Given the description of an element on the screen output the (x, y) to click on. 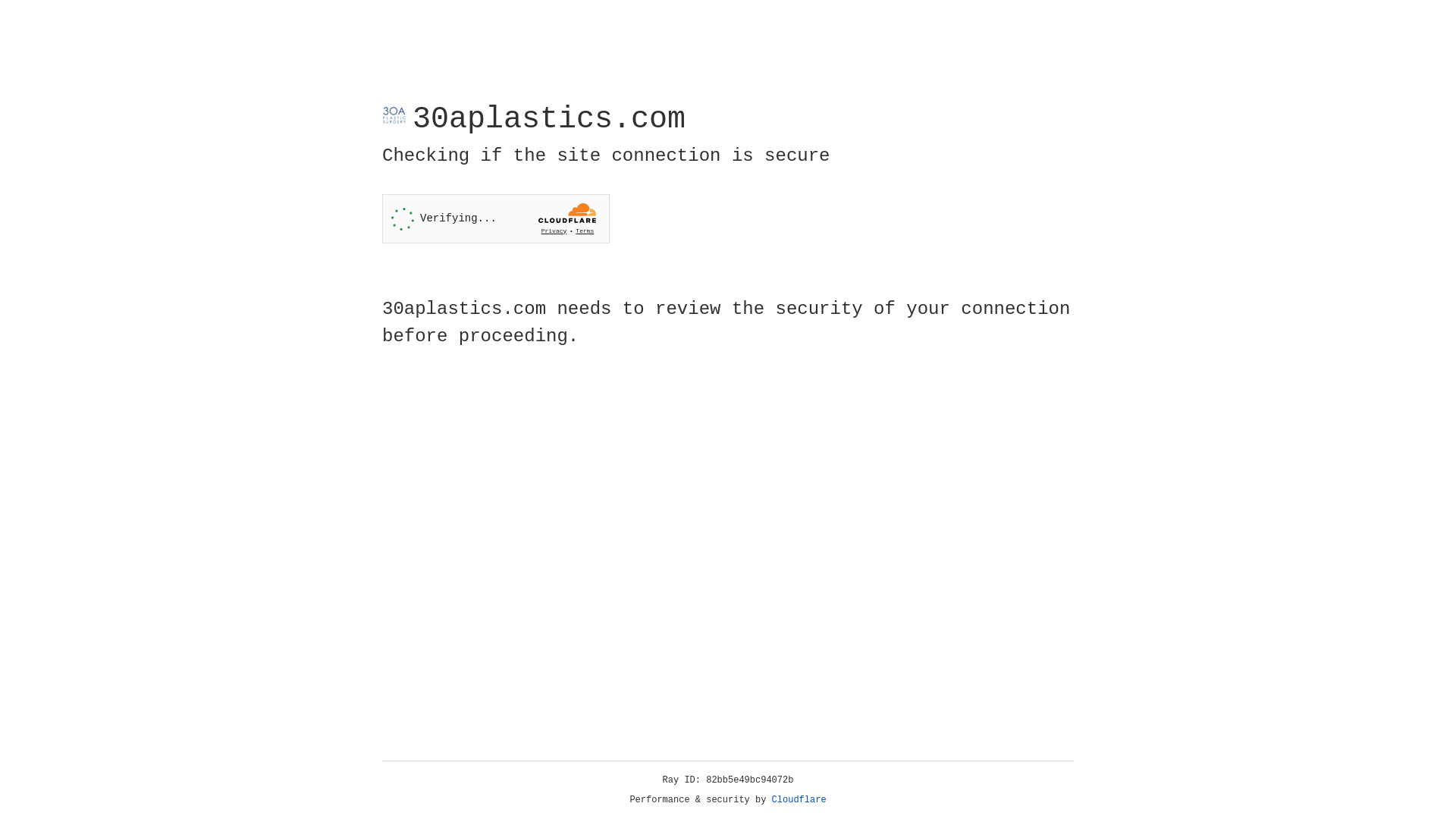
Widget containing a Cloudflare security challenge Element type: hover (495, 218)
Cloudflare Element type: text (798, 799)
